Given the description of an element on the screen output the (x, y) to click on. 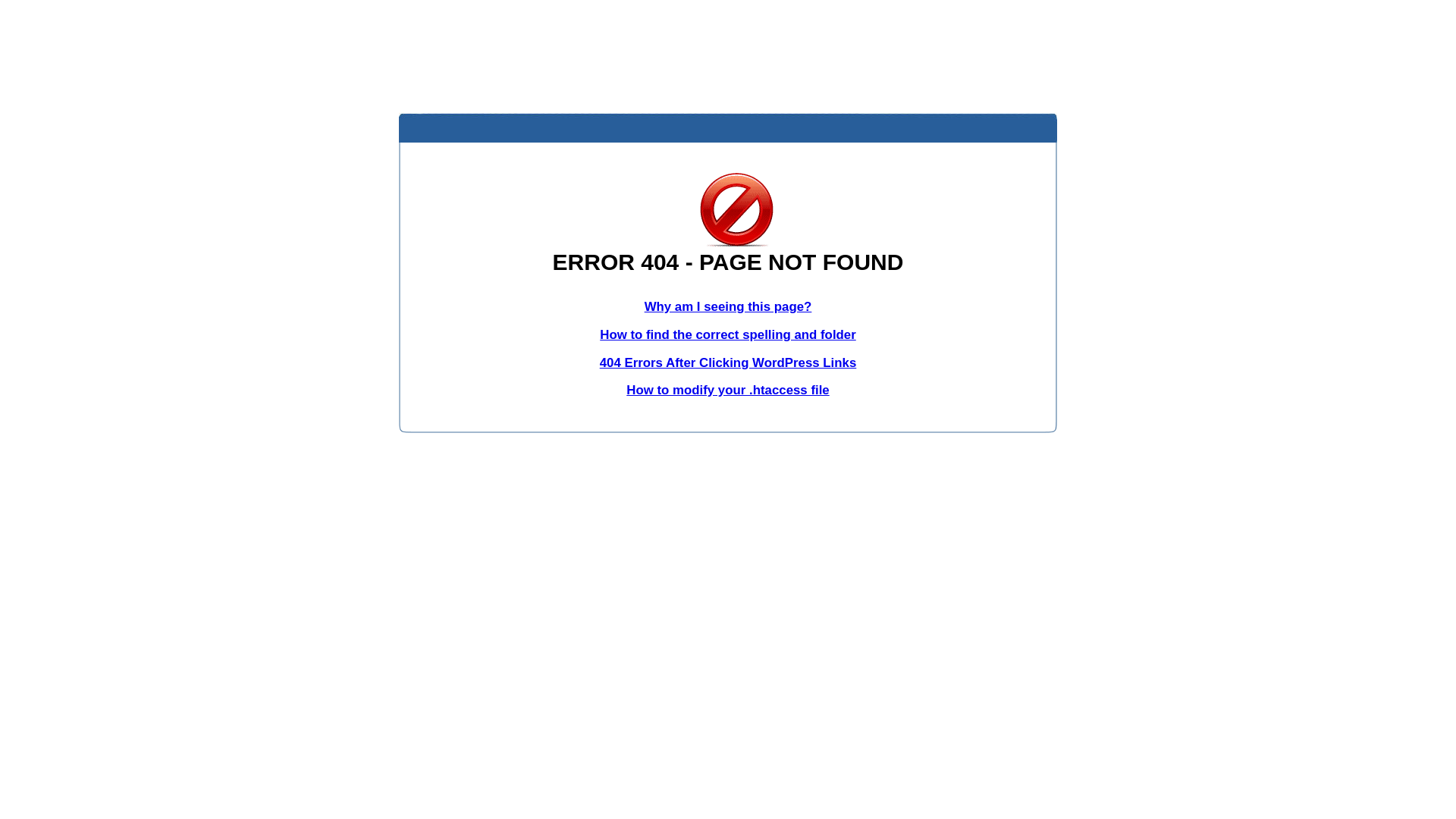
Why am I seeing this page? Element type: text (728, 306)
404 Errors After Clicking WordPress Links Element type: text (727, 362)
How to find the correct spelling and folder Element type: text (727, 334)
How to modify your .htaccess file Element type: text (727, 389)
